Given the description of an element on the screen output the (x, y) to click on. 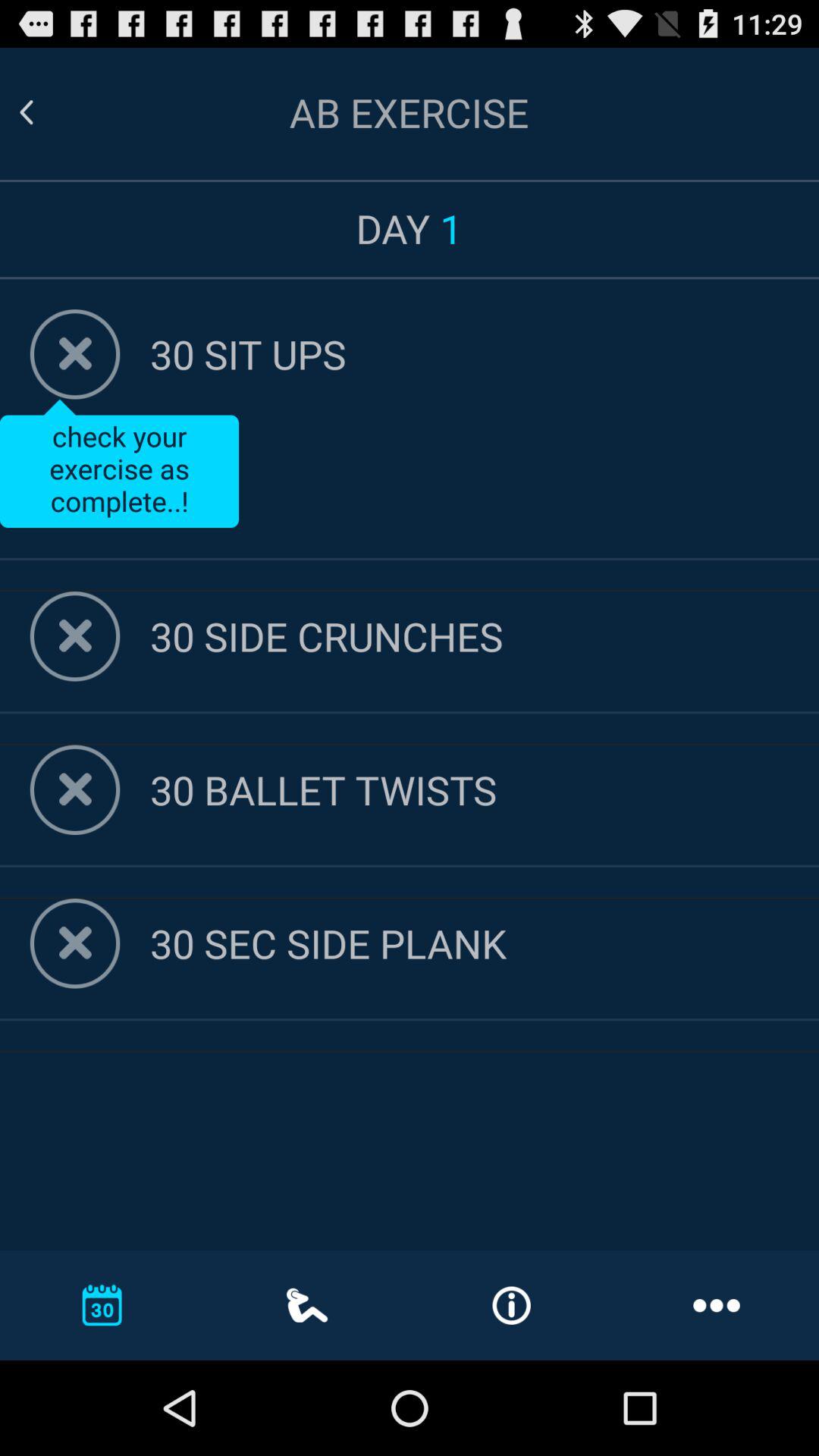
remove (75, 354)
